Given the description of an element on the screen output the (x, y) to click on. 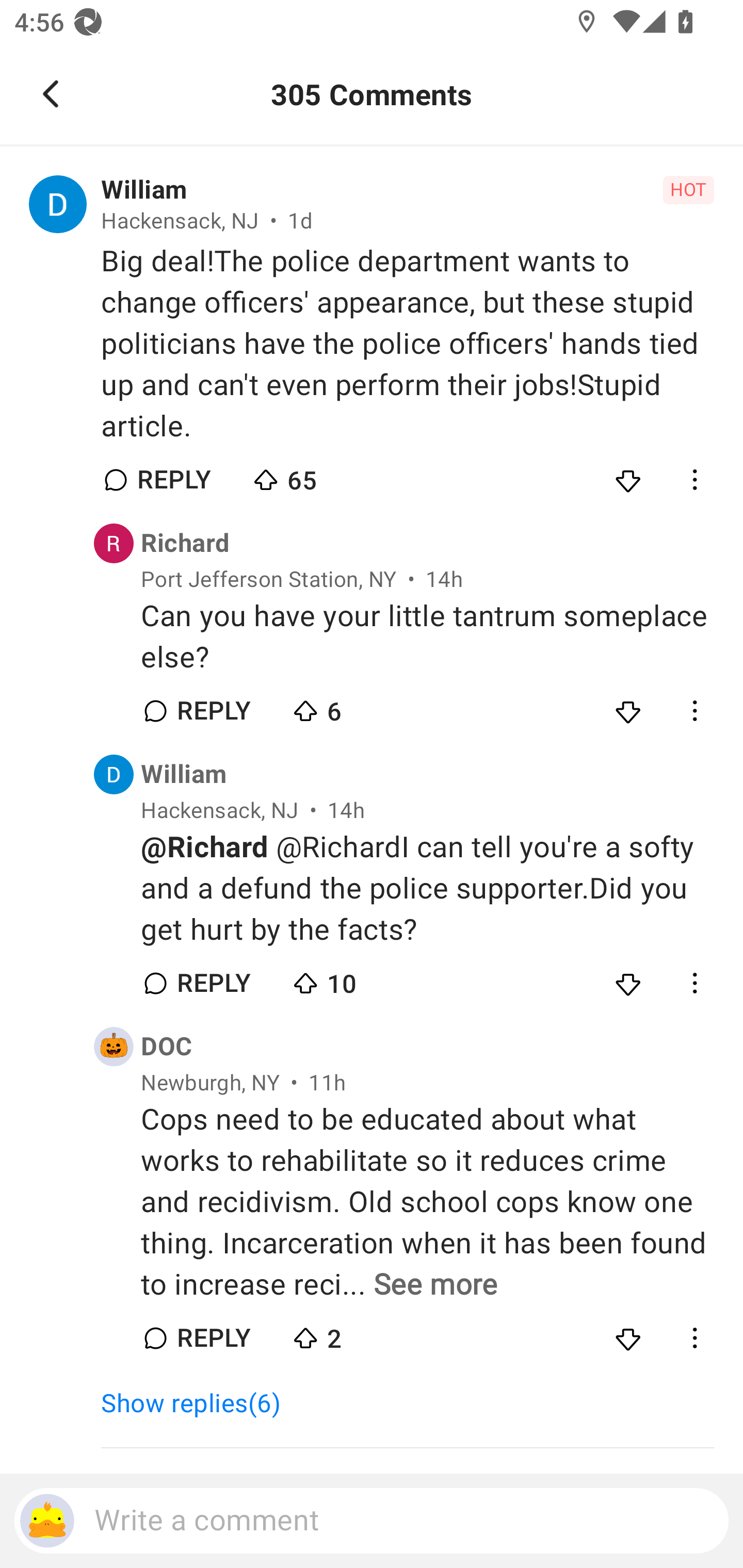
Navigate up (50, 93)
William (144, 190)
65 (320, 475)
REPLY (173, 480)
Richard (185, 543)
Can you have your little tantrum someplace else?  (427, 636)
6 (360, 706)
REPLY (213, 711)
William (184, 774)
10 (360, 979)
REPLY (213, 983)
DOC (166, 1046)
2 (360, 1333)
REPLY (213, 1338)
Show replies(6) (199, 1404)
Write a comment (371, 1520)
